Given the description of an element on the screen output the (x, y) to click on. 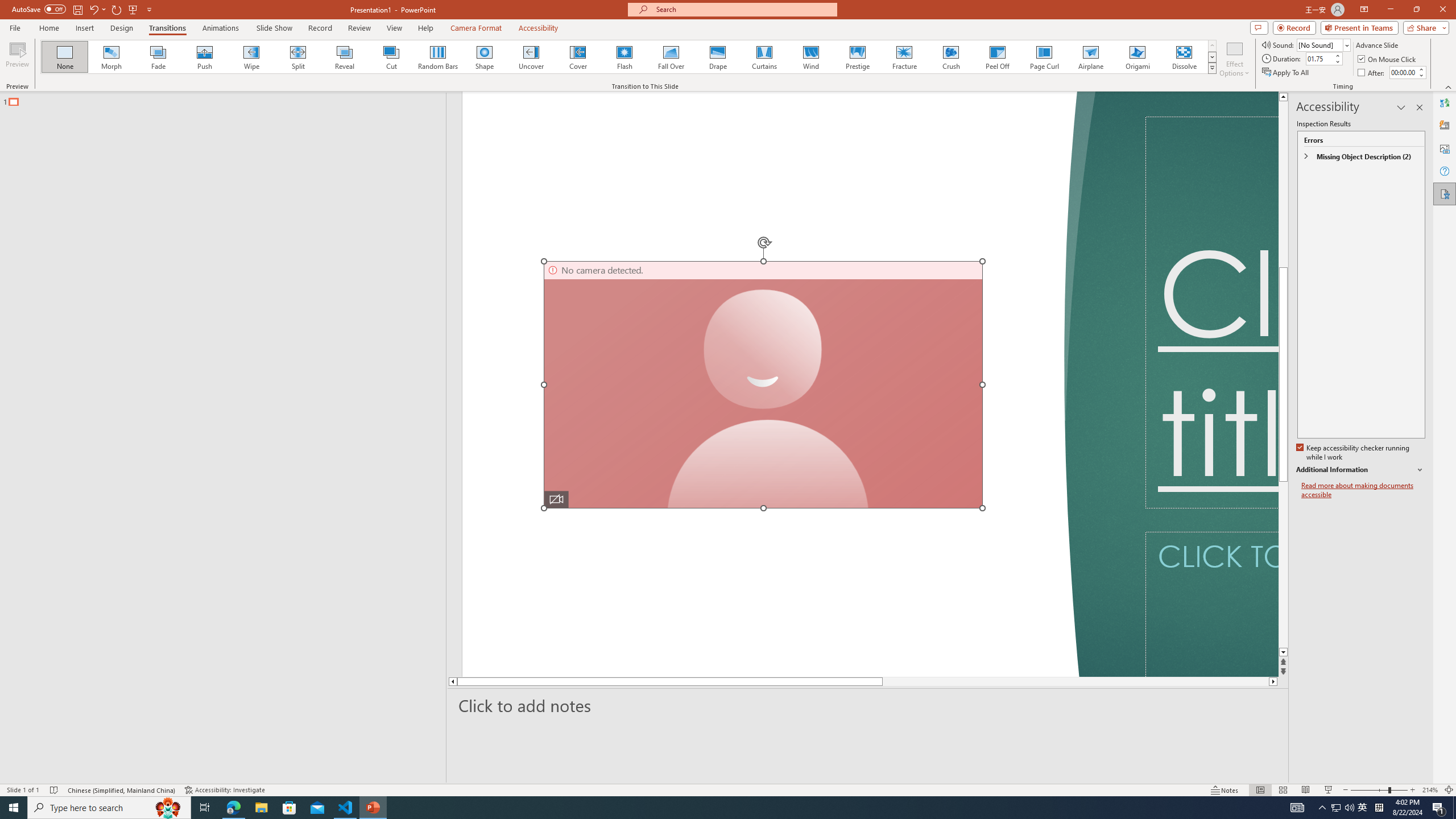
Line down (1283, 652)
Flash (624, 56)
Rectangle (216, 437)
Keep accessibility checker running while I work (1353, 452)
Push (205, 56)
Reveal (344, 56)
Page down (1052, 681)
Duration (1319, 58)
On Mouse Click (1387, 58)
Subtitle TextBox (1211, 603)
